Given the description of an element on the screen output the (x, y) to click on. 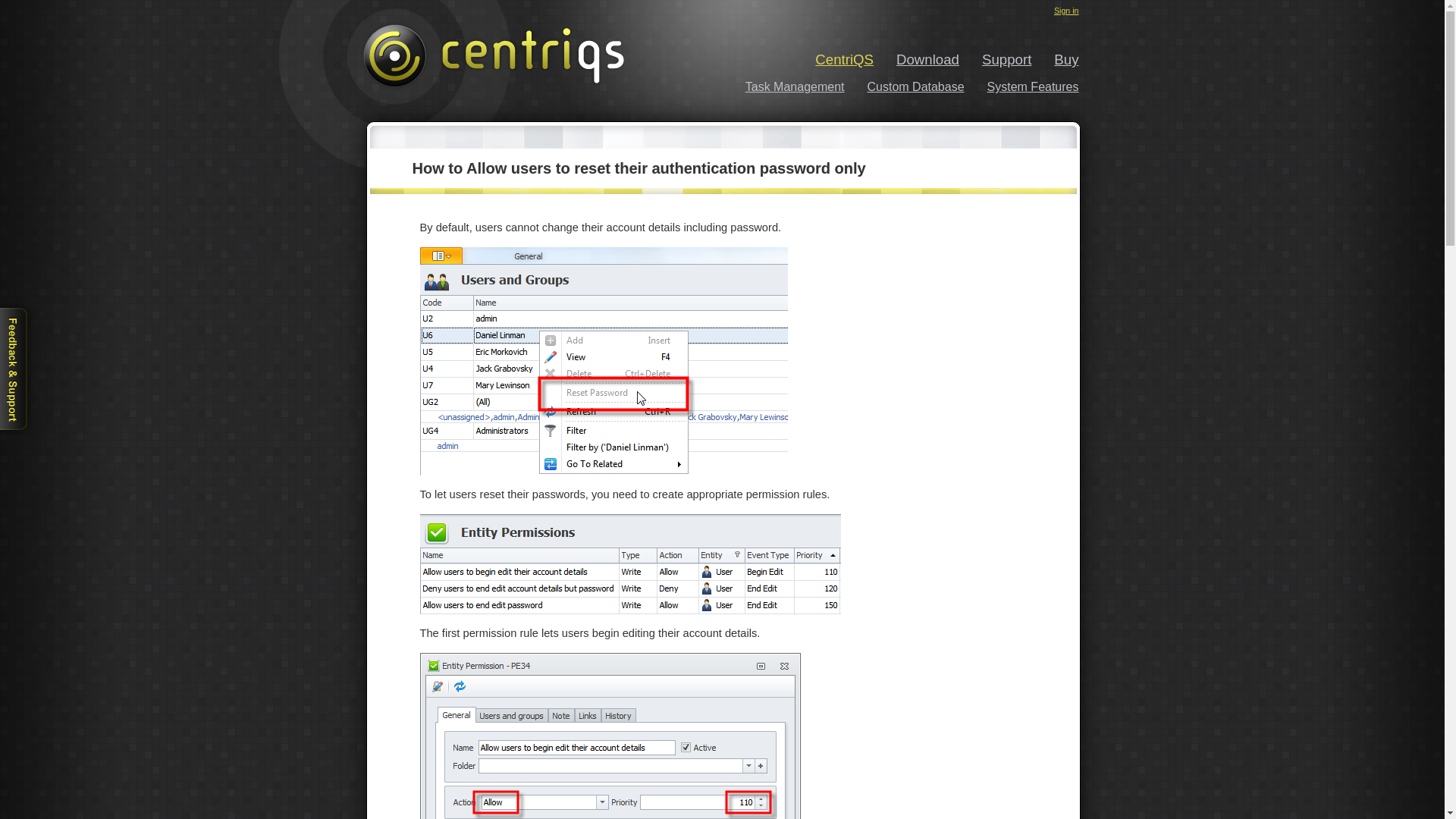
Task Management (783, 86)
Custom Database (903, 86)
Download (916, 59)
CentriQS (832, 59)
Buy (1054, 59)
Support (994, 59)
System Features (1020, 86)
Sign in (1066, 10)
